Given the description of an element on the screen output the (x, y) to click on. 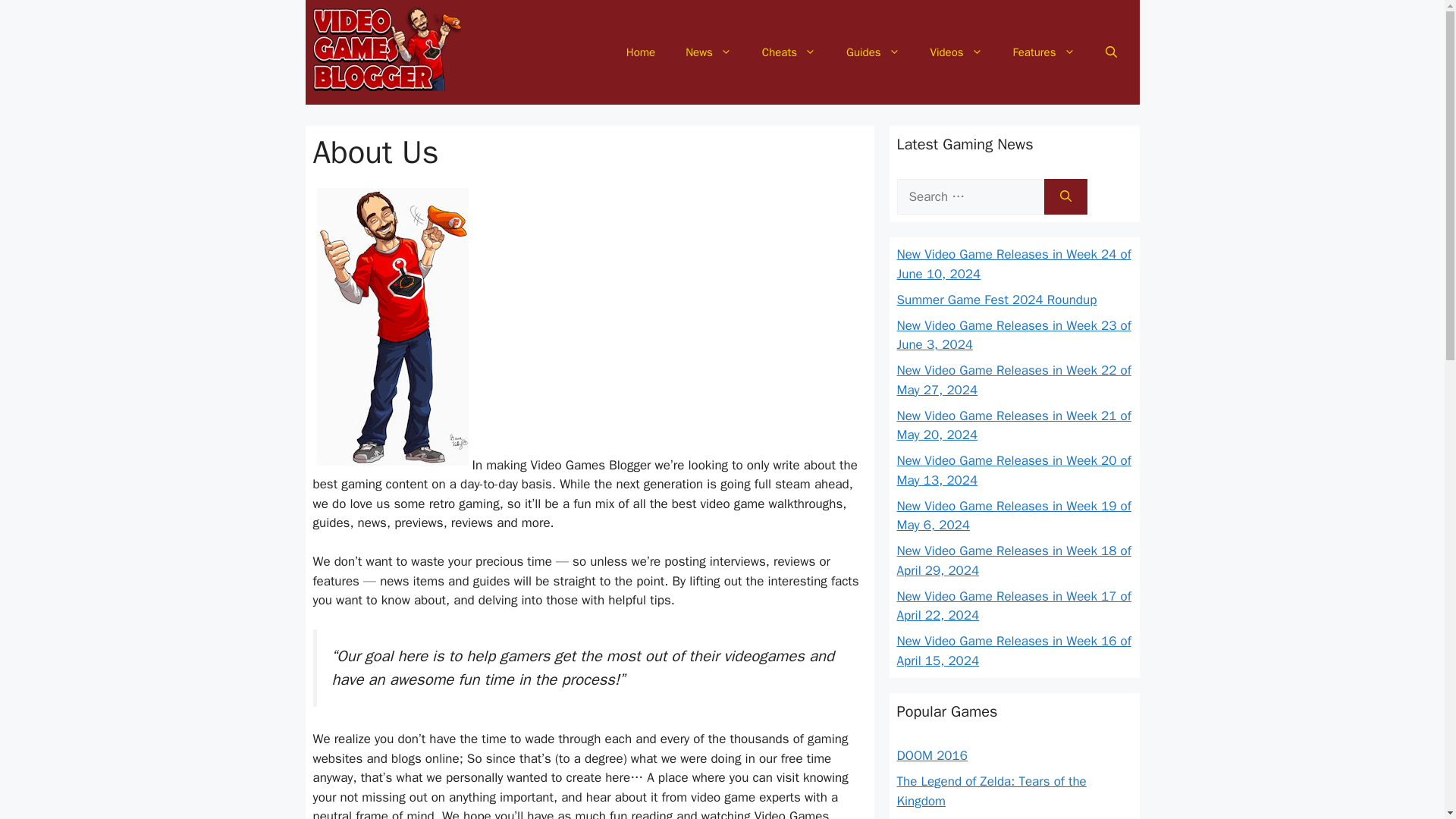
Guides (873, 52)
Home (640, 52)
News (707, 52)
Cheats (788, 52)
Video Game News (707, 52)
Video Game Cheats (788, 52)
Video Games Blogger Homepage (640, 52)
